Given the description of an element on the screen output the (x, y) to click on. 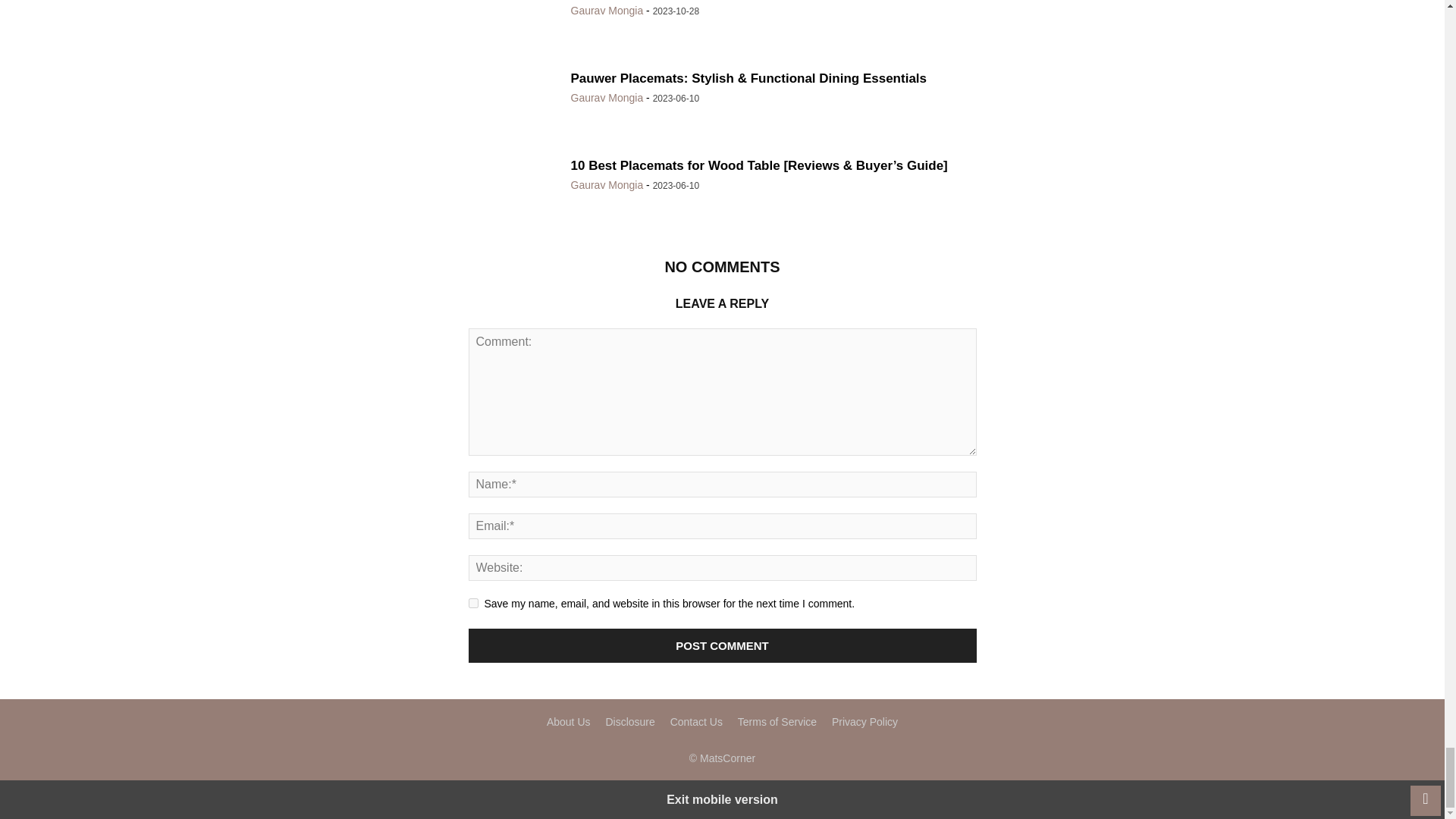
Post Comment (722, 645)
15 Easy Tips and Tricks: How to Choose Placemats? (513, 26)
yes (473, 603)
